Given the description of an element on the screen output the (x, y) to click on. 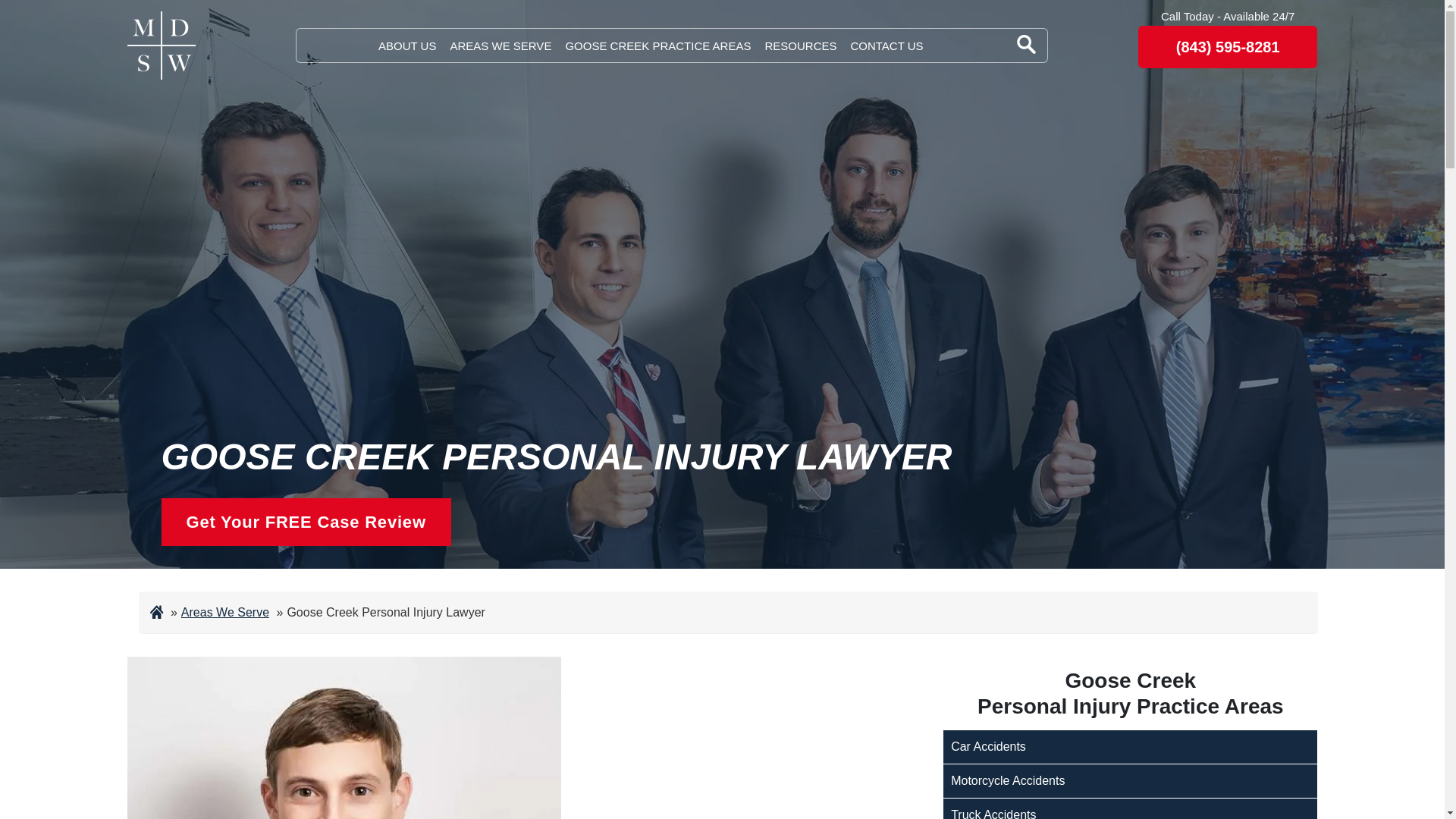
ABOUT US (406, 45)
RESOURCES (799, 45)
Get Your FREE Case Review (304, 521)
homepage (161, 45)
AREAS WE SERVE (500, 45)
GOOSE CREEK PRACTICE AREAS (657, 45)
phone (1227, 46)
CONTACT US (886, 45)
